Given the description of an element on the screen output the (x, y) to click on. 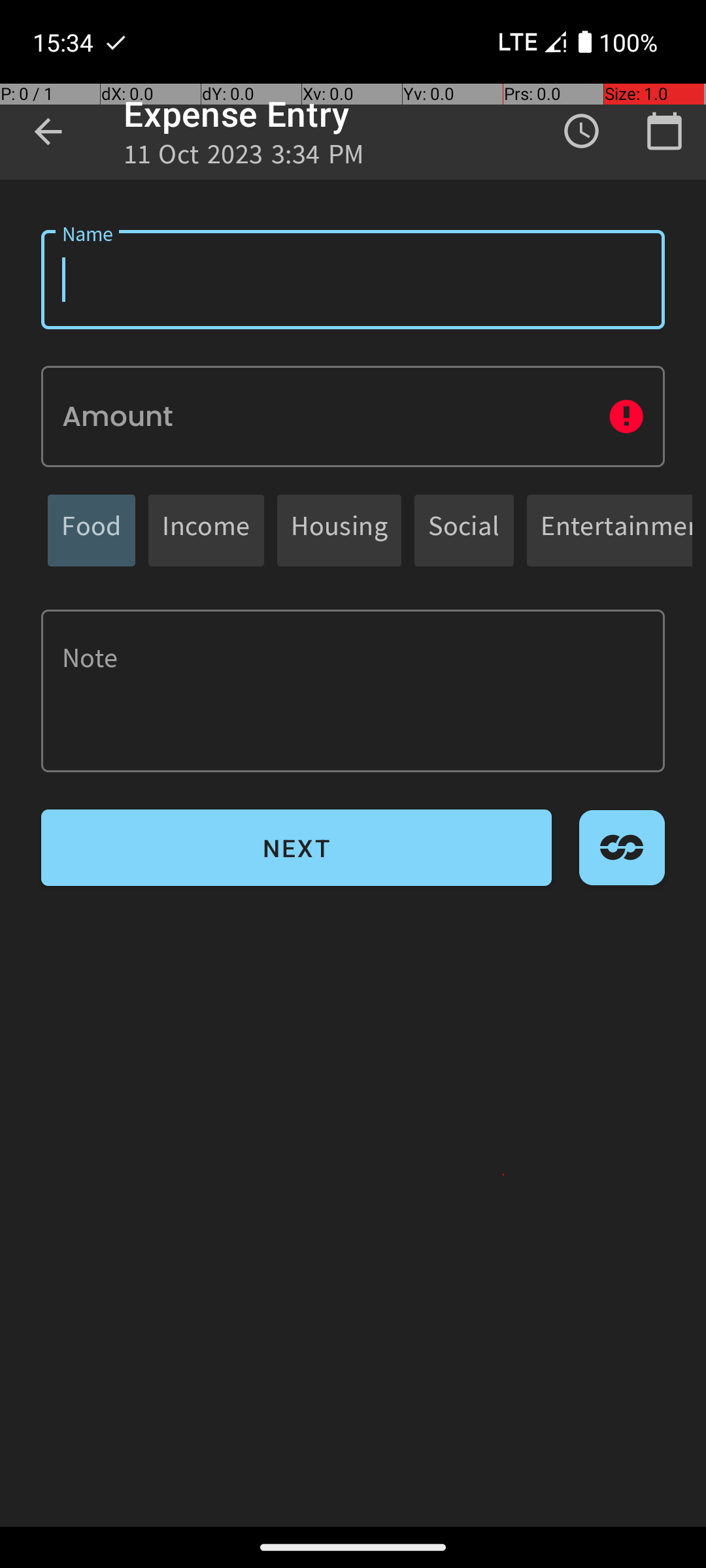
11 Oct 2023 3:34 PM Element type: android.widget.TextView (243, 157)
NEXT Element type: android.widget.Button (296, 847)
